Given the description of an element on the screen output the (x, y) to click on. 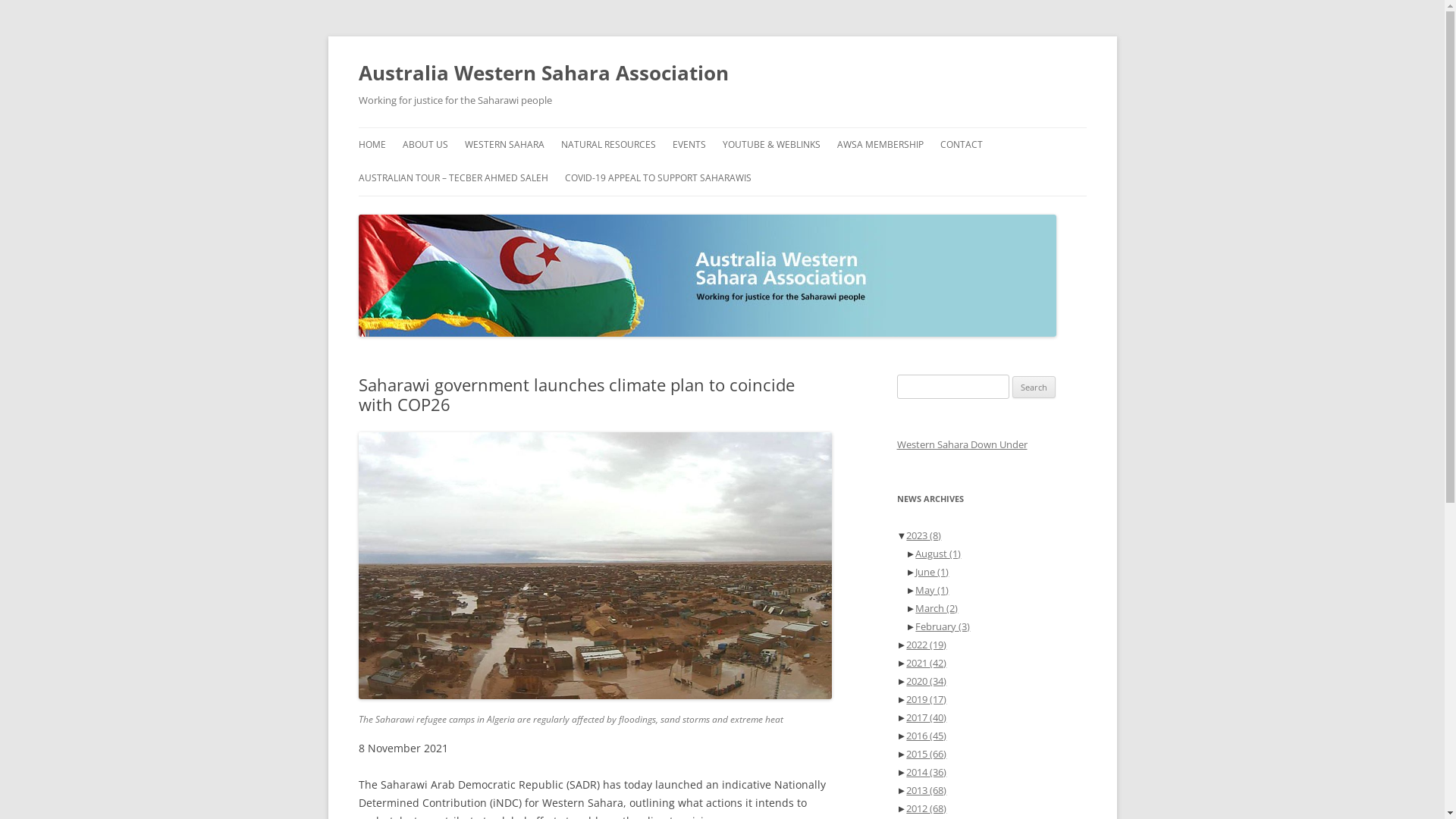
2022 (19) Element type: text (926, 644)
February (3) Element type: text (942, 626)
March (2) Element type: text (936, 608)
May (1) Element type: text (931, 589)
AWSA MEMBERSHIP Element type: text (880, 144)
2017 (40) Element type: text (926, 717)
EVENTS Element type: text (688, 144)
WESTERN SAHARA Element type: text (503, 144)
2020 (34) Element type: text (926, 680)
ABOUT WESTERN SAHARA Element type: text (539, 176)
August (1) Element type: text (937, 553)
Skip to content Element type: text (721, 127)
2013 (68) Element type: text (926, 790)
2021 (42) Element type: text (926, 662)
YOUTUBE & WEBLINKS Element type: text (770, 144)
Search Element type: text (1033, 387)
2015 (66) Element type: text (926, 753)
HOW YOU CAN HELP Element type: text (912, 176)
2019 (17) Element type: text (926, 699)
NATURAL RESOURCES Element type: text (608, 144)
Western Sahara Down Under Element type: text (961, 444)
HOME Element type: text (371, 144)
2014 (36) Element type: text (926, 771)
2012 (68) Element type: text (926, 808)
2016 (45) Element type: text (926, 735)
CONTACT Element type: text (961, 144)
June (1) Element type: text (931, 571)
Australia Western Sahara Association Element type: text (542, 72)
COVID-19 APPEAL TO SUPPORT SAHARAWIS Element type: text (657, 177)
2023 (8) Element type: text (923, 535)
ABOUT US Element type: text (424, 144)
